Given the description of an element on the screen output the (x, y) to click on. 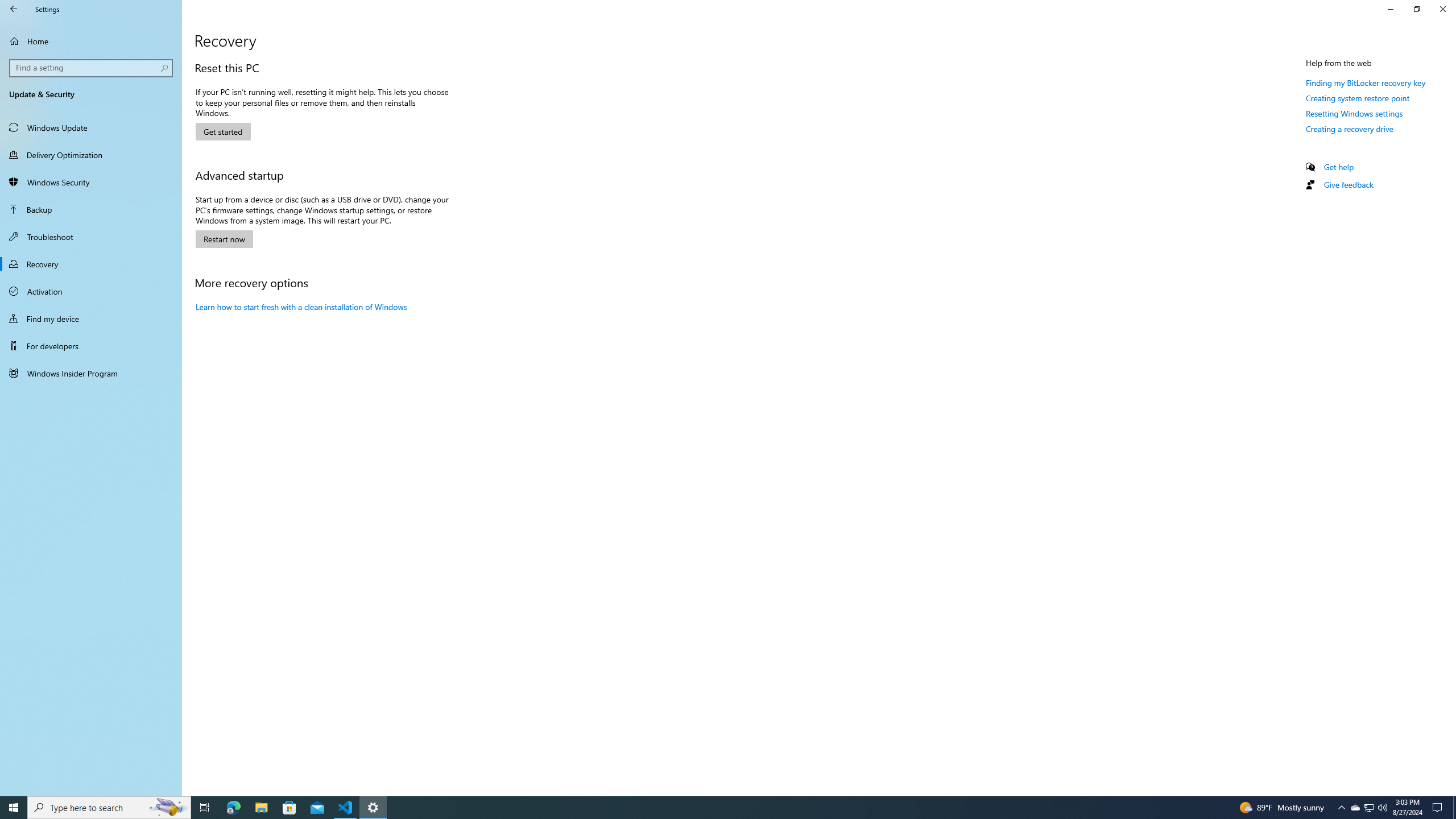
Type here to search (108, 807)
Find my device (91, 318)
Search highlights icon opens search home window (167, 807)
Q2790: 100% (1382, 807)
Microsoft Edge (233, 807)
Creating a recovery drive (1349, 128)
Delivery Optimization (91, 154)
Back (13, 9)
Action Center, No new notifications (1439, 807)
Microsoft Store (289, 807)
Windows Insider Program (91, 372)
Activation (91, 290)
Visual Studio Code - 1 running window (345, 807)
Close Settings (1442, 9)
